Given the description of an element on the screen output the (x, y) to click on. 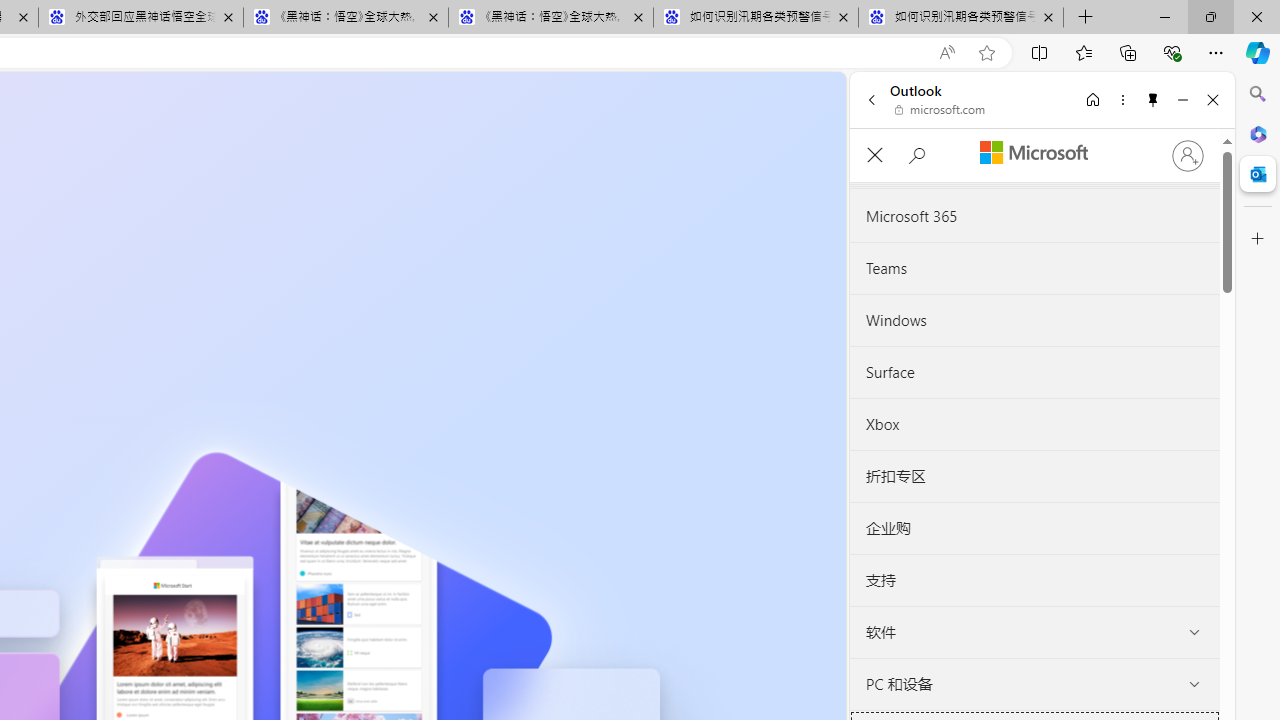
Unpin side pane (1153, 99)
Windows (1034, 319)
Surface (1034, 371)
Teams (1034, 268)
Microsoft (1033, 153)
Xbox (1034, 424)
